Given the description of an element on the screen output the (x, y) to click on. 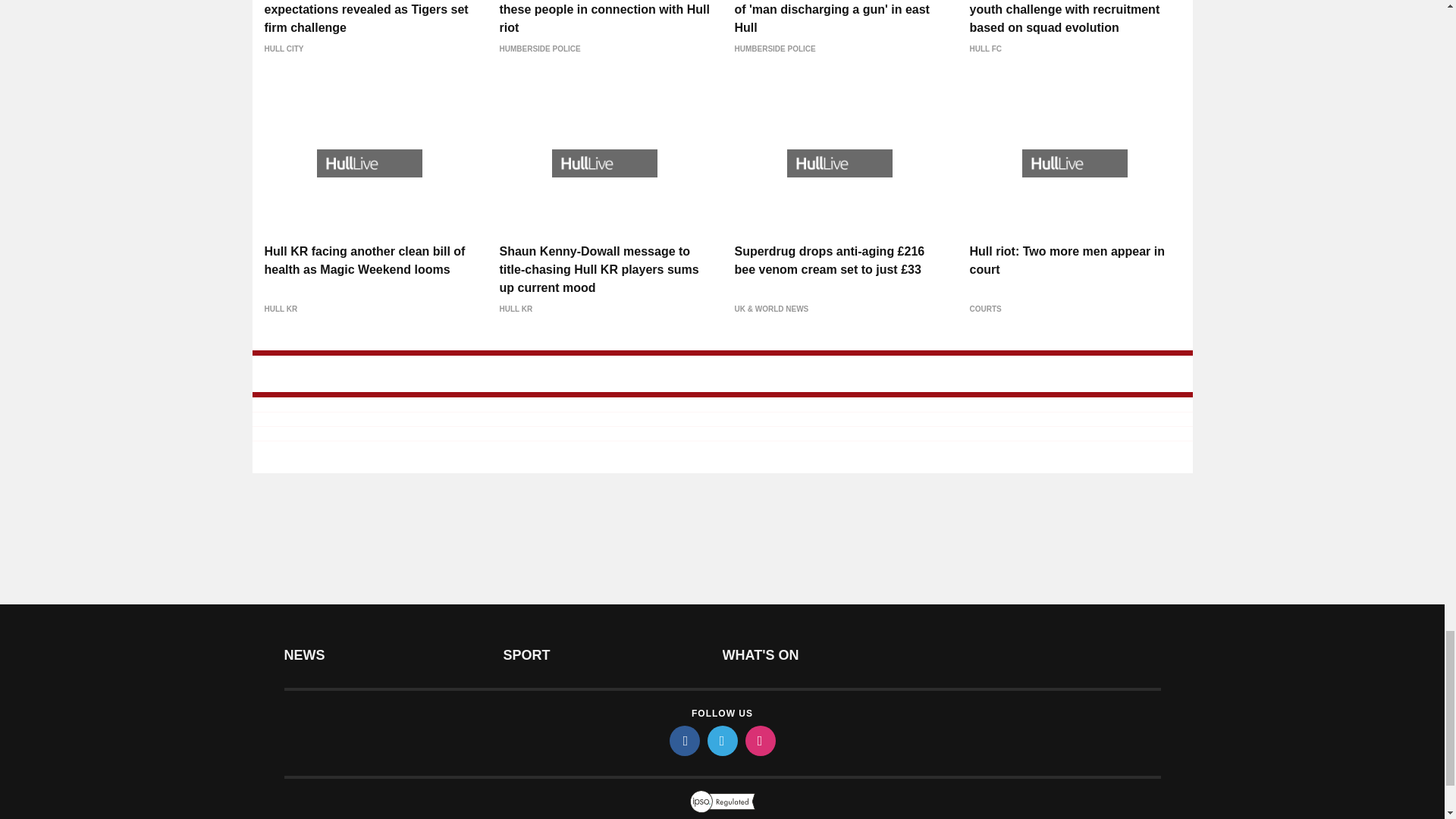
twitter (721, 740)
instagram (759, 740)
facebook (683, 740)
